Given the description of an element on the screen output the (x, y) to click on. 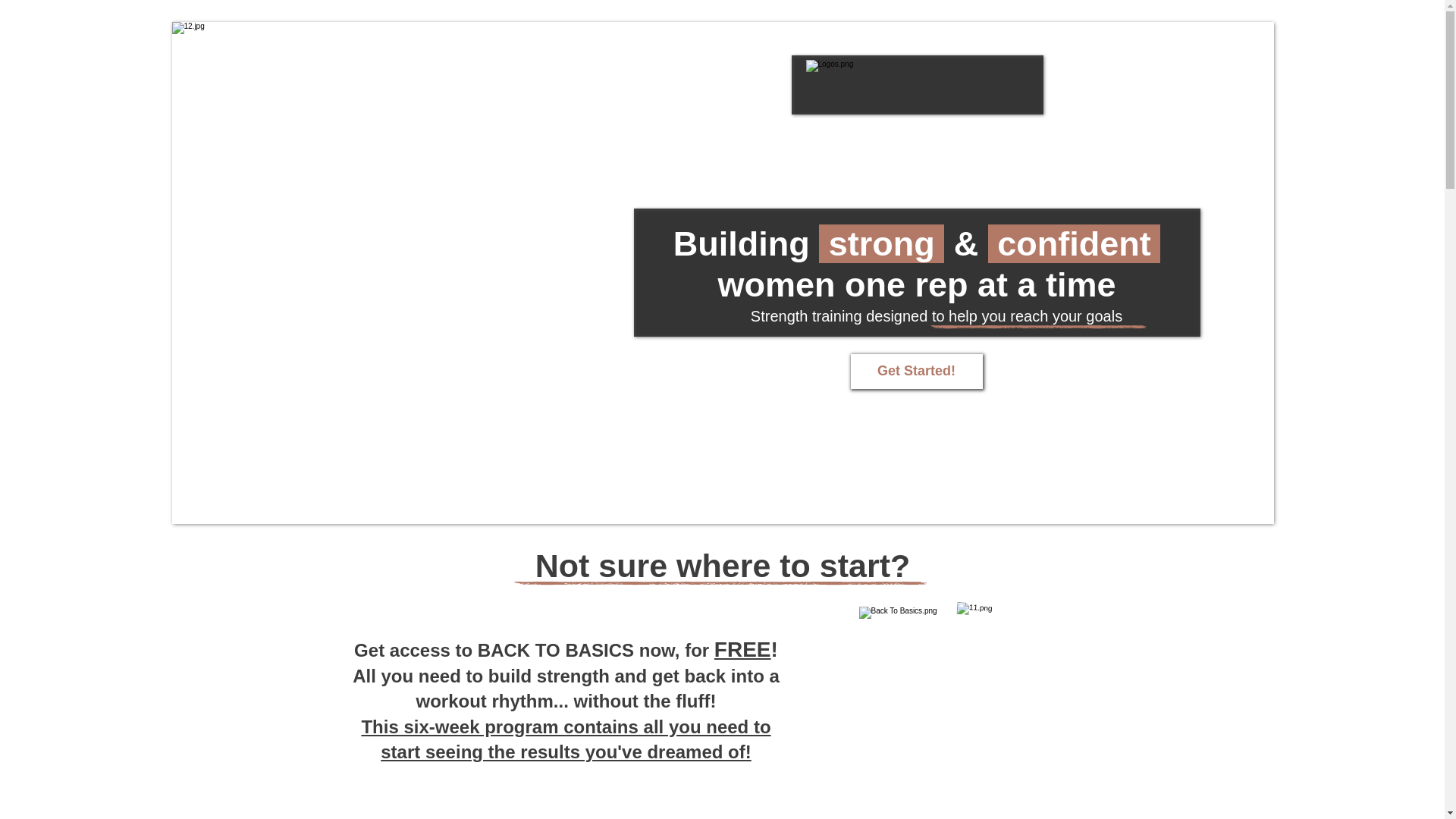
Home (872, 140)
Get Started! (916, 371)
